Given the description of an element on the screen output the (x, y) to click on. 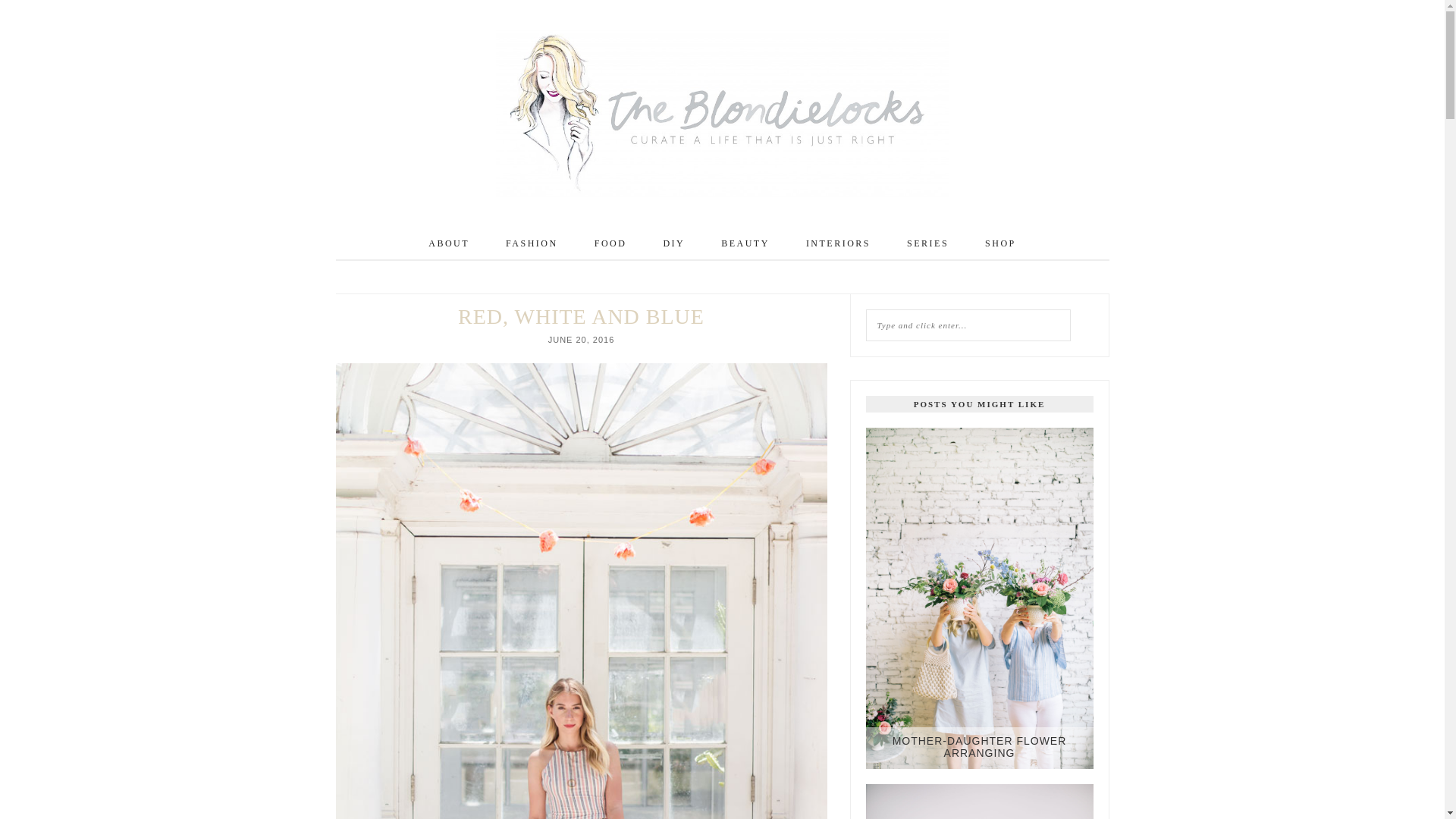
ABOUT (448, 243)
FOOD (610, 243)
FASHION (531, 243)
SERIES (928, 243)
INTERIORS (838, 243)
BEAUTY (745, 243)
